Given the description of an element on the screen output the (x, y) to click on. 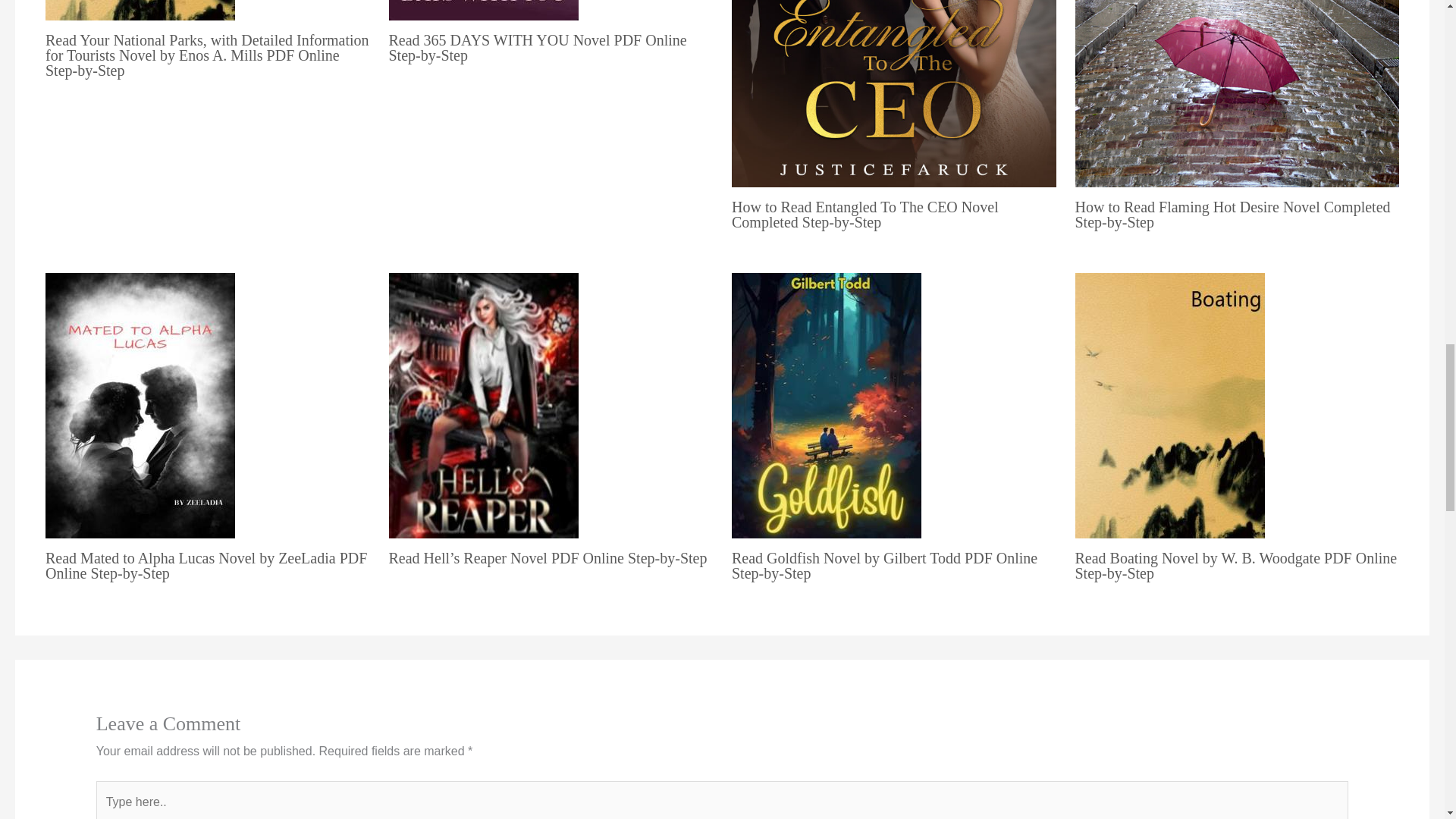
Read Boating Novel by W. B. Woodgate PDF Online Step-by-Step (1236, 565)
Read 365 DAYS WITH YOU Novel PDF Online Step-by-Step (536, 47)
How to Read Flaming Hot Desire Novel Completed Step-by-Step (1232, 214)
Read Goldfish Novel by Gilbert Todd PDF Online Step-by-Step (884, 565)
